Given the description of an element on the screen output the (x, y) to click on. 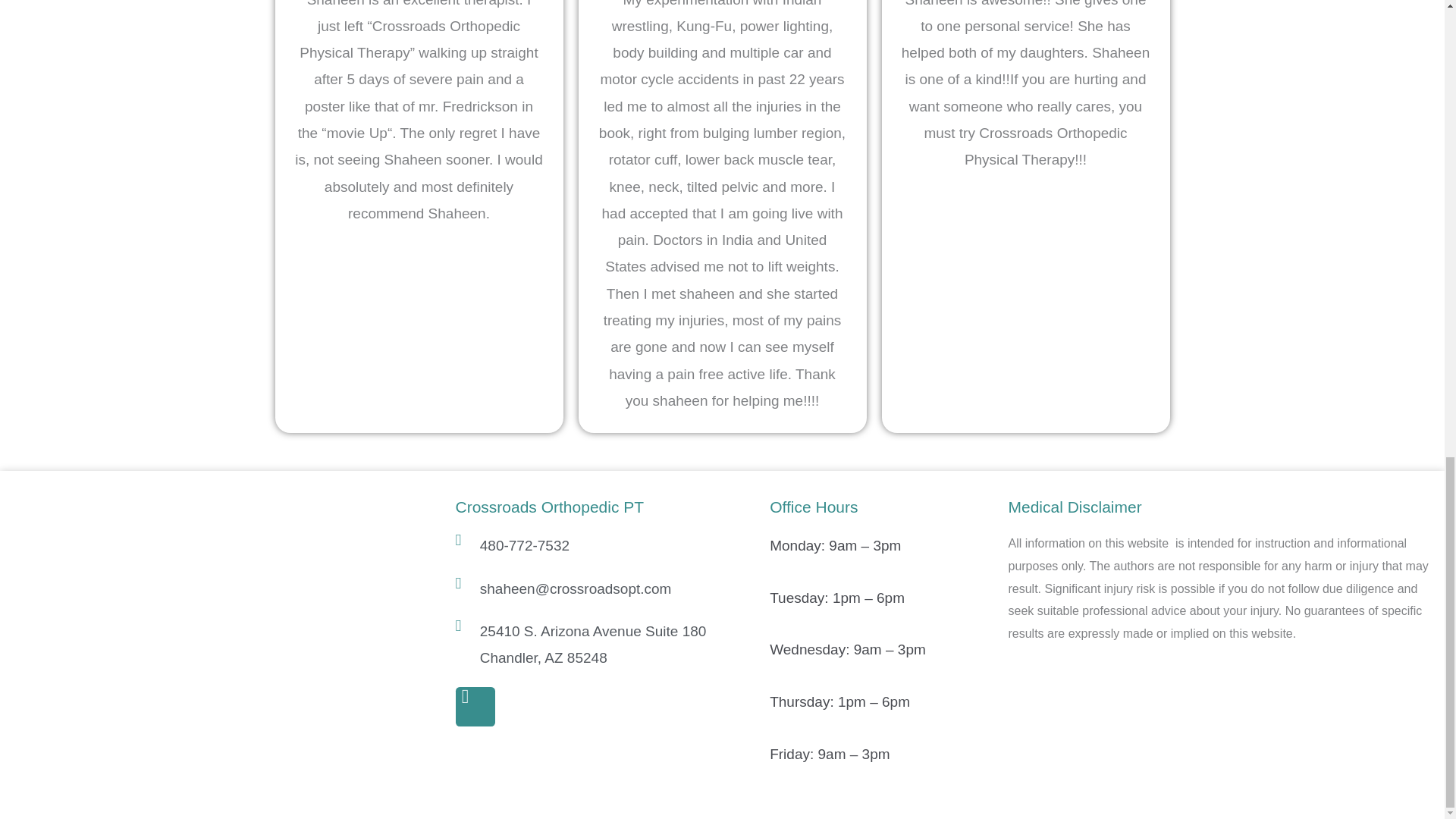
25410 S Arizona Ave Suite 182 (221, 610)
